Given the description of an element on the screen output the (x, y) to click on. 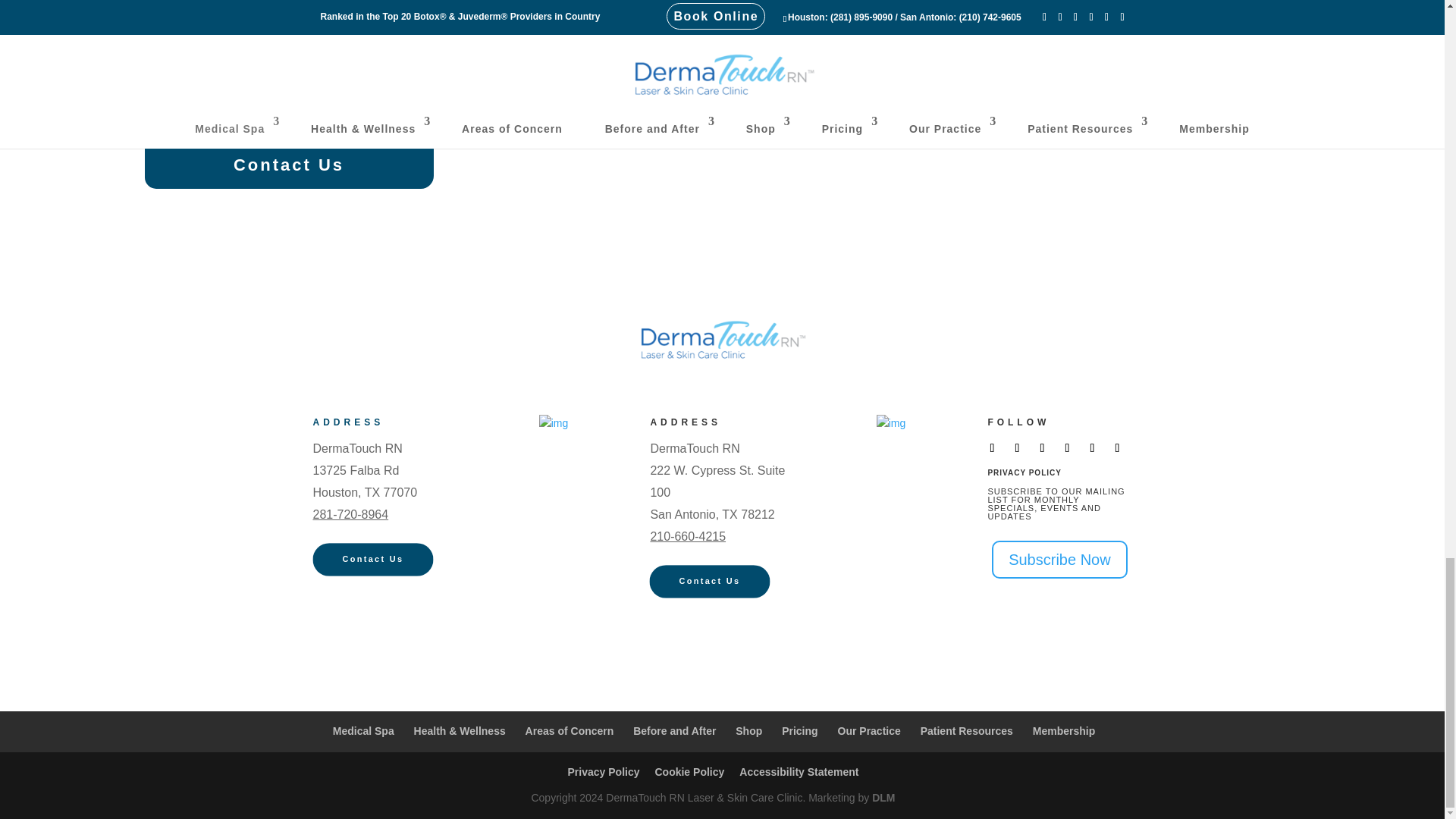
Follow on Youtube (1066, 447)
Follow on Pinterest (1091, 447)
Follow on Instagram (1041, 447)
Follow on Facebook (991, 447)
Follow on LinkedIn (1117, 447)
Follow on Twitter (1016, 447)
